Given the description of an element on the screen output the (x, y) to click on. 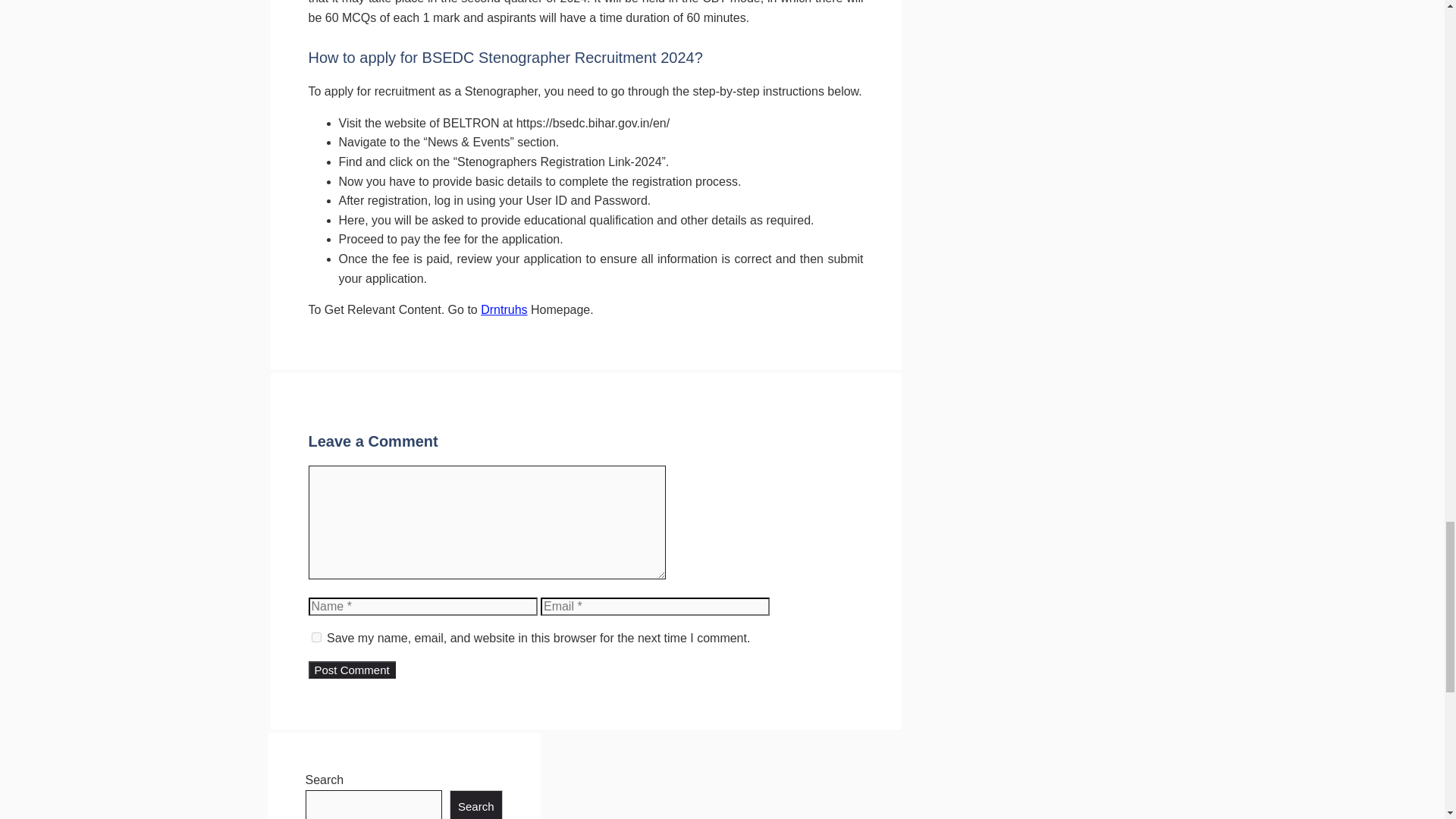
Post Comment (350, 669)
Post Comment (350, 669)
Search (475, 804)
Drntruhs (503, 309)
yes (315, 637)
